Given the description of an element on the screen output the (x, y) to click on. 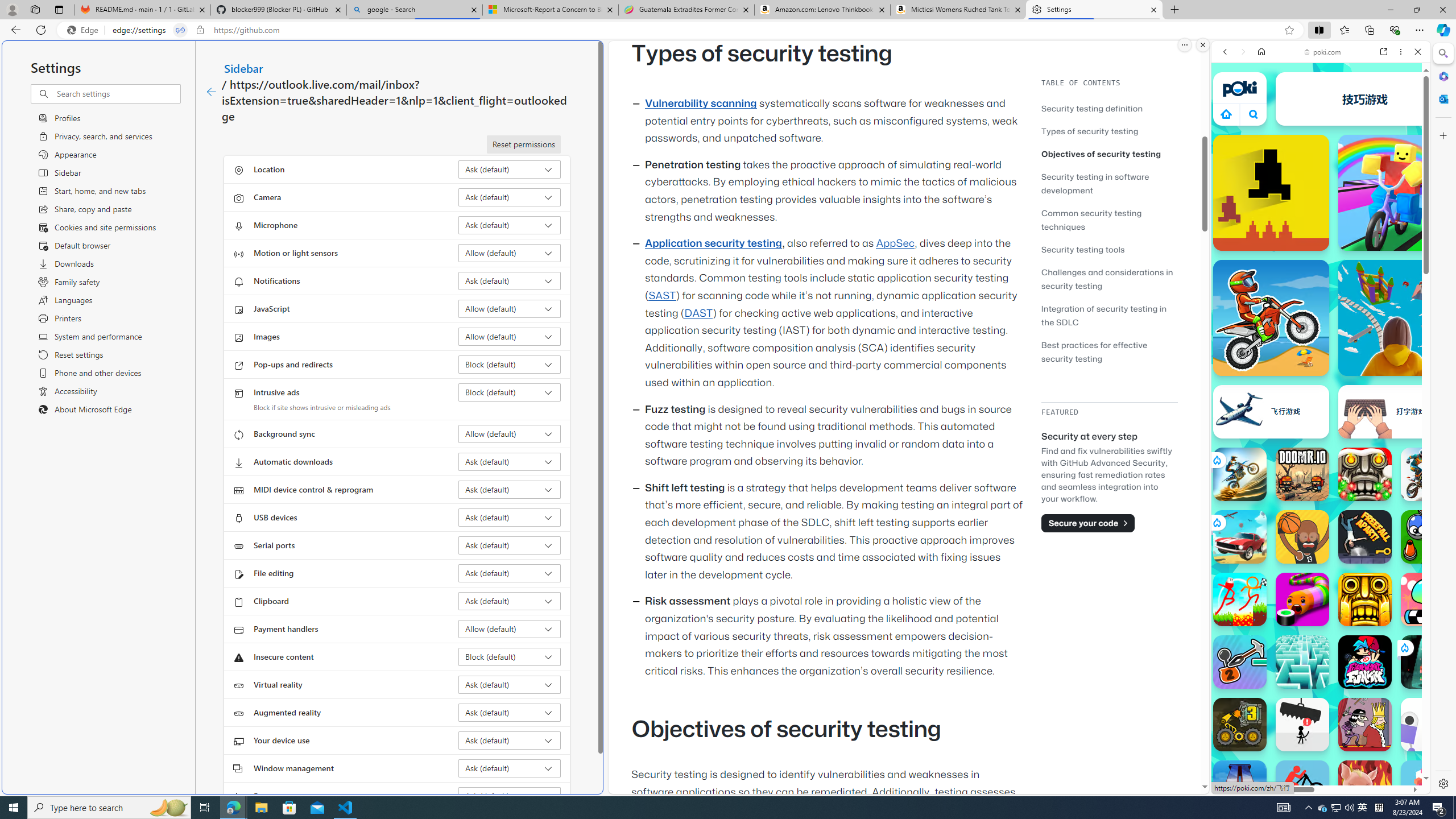
Reset permissions (523, 144)
Security testing in software development (1094, 182)
Avoid Dying Avoid Dying (1302, 724)
Class: rCs5cyEiqiTpYvt_VBCR (1404, 647)
Stunt Paradise Stunt Paradise (1239, 536)
Combat Reloaded Combat Reloaded poki.com (1349, 548)
JavaScript Allow (default) (509, 308)
Hills of Steel Hills of Steel poki.com (1264, 548)
Io Games (1320, 351)
Security testing tools (1109, 249)
Car Games (1320, 267)
